Given the description of an element on the screen output the (x, y) to click on. 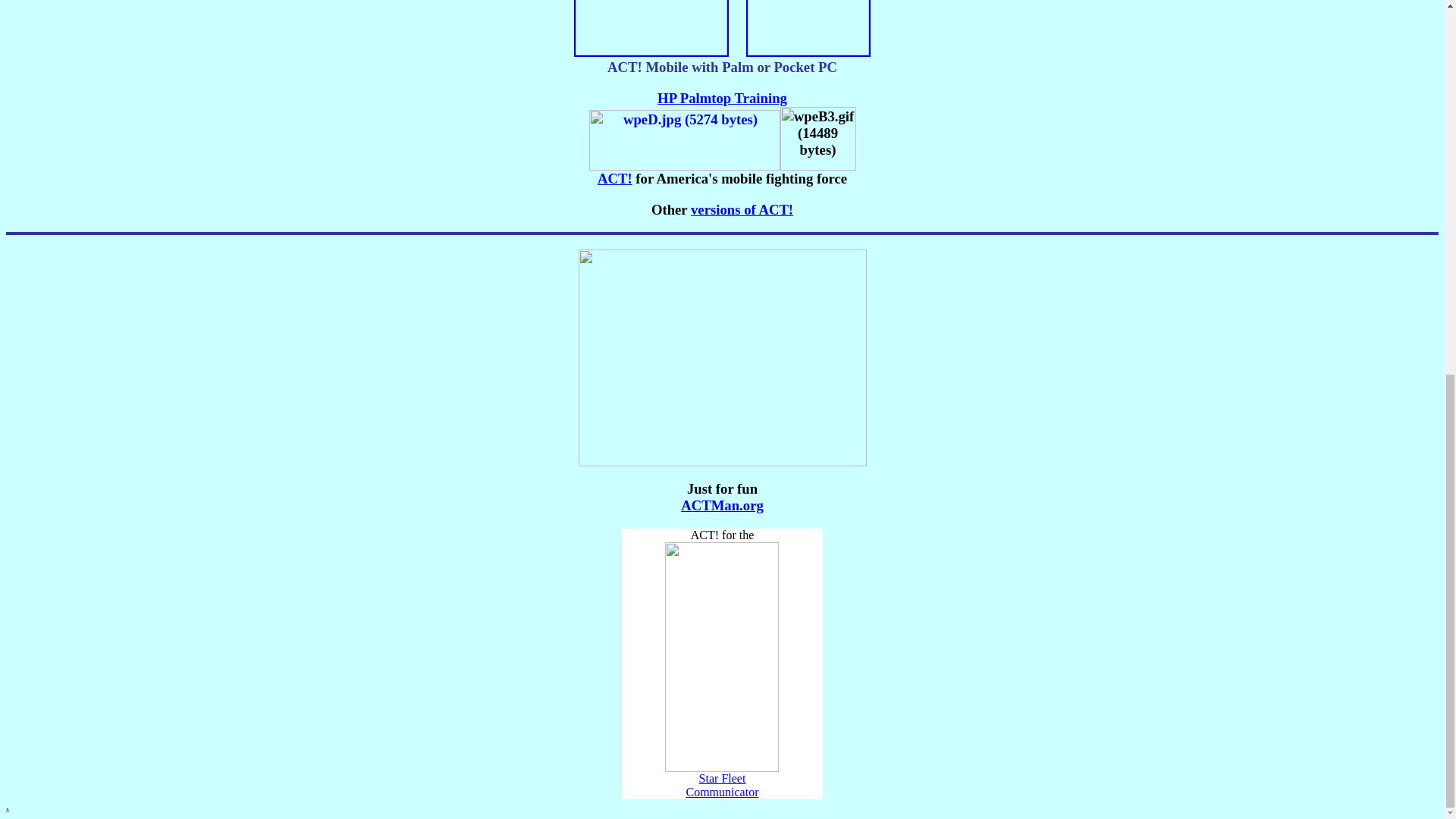
Communicator (721, 791)
ACTMan.org (721, 505)
Star Fleet (721, 772)
ACT! (613, 178)
HP Palmtop Training (722, 98)
versions of ACT! (741, 209)
